Given the description of an element on the screen output the (x, y) to click on. 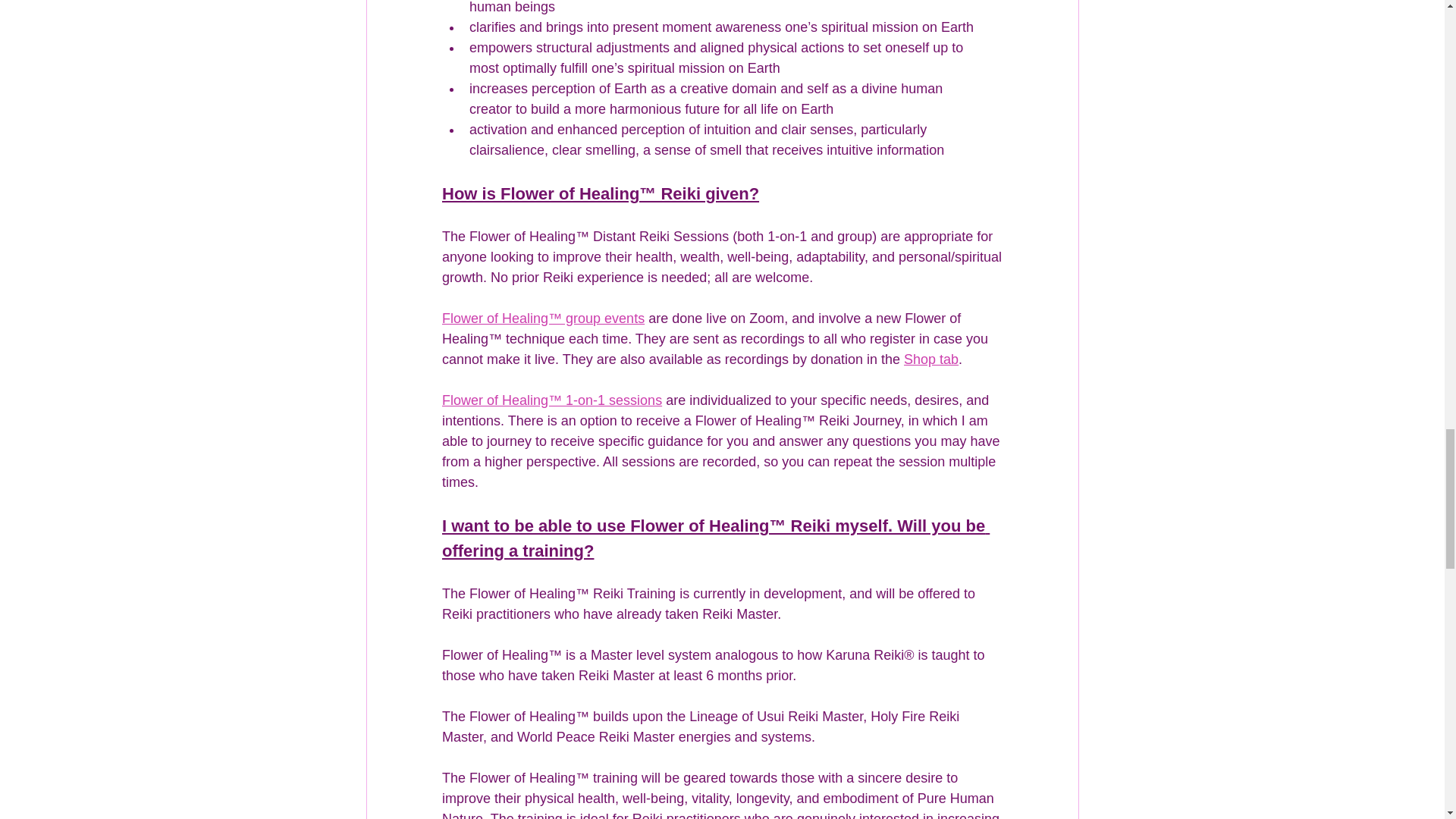
Shop tab (931, 359)
